Given the description of an element on the screen output the (x, y) to click on. 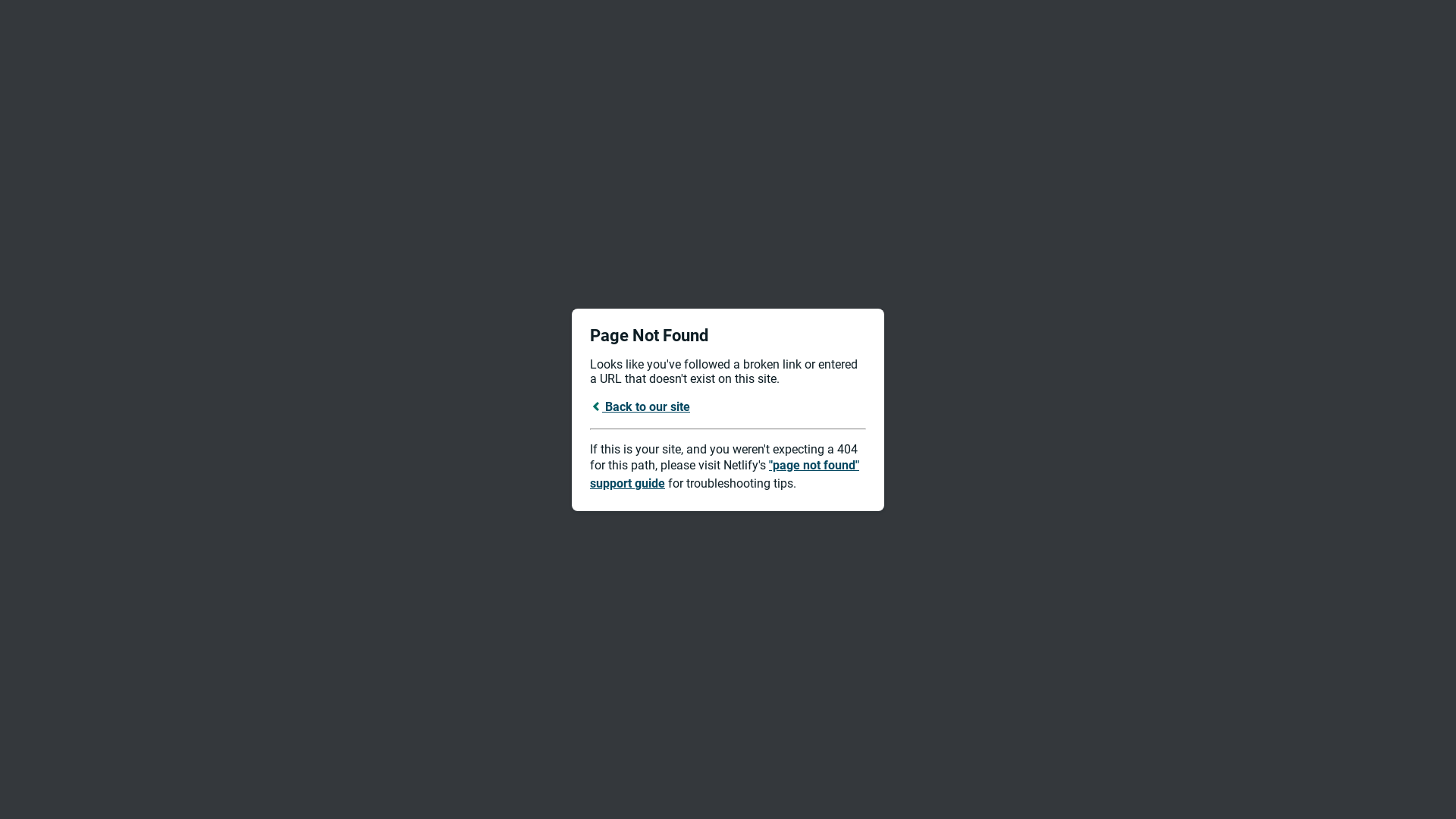
"page not found" support guide Element type: text (724, 474)
Back to our site Element type: text (639, 405)
